Given the description of an element on the screen output the (x, y) to click on. 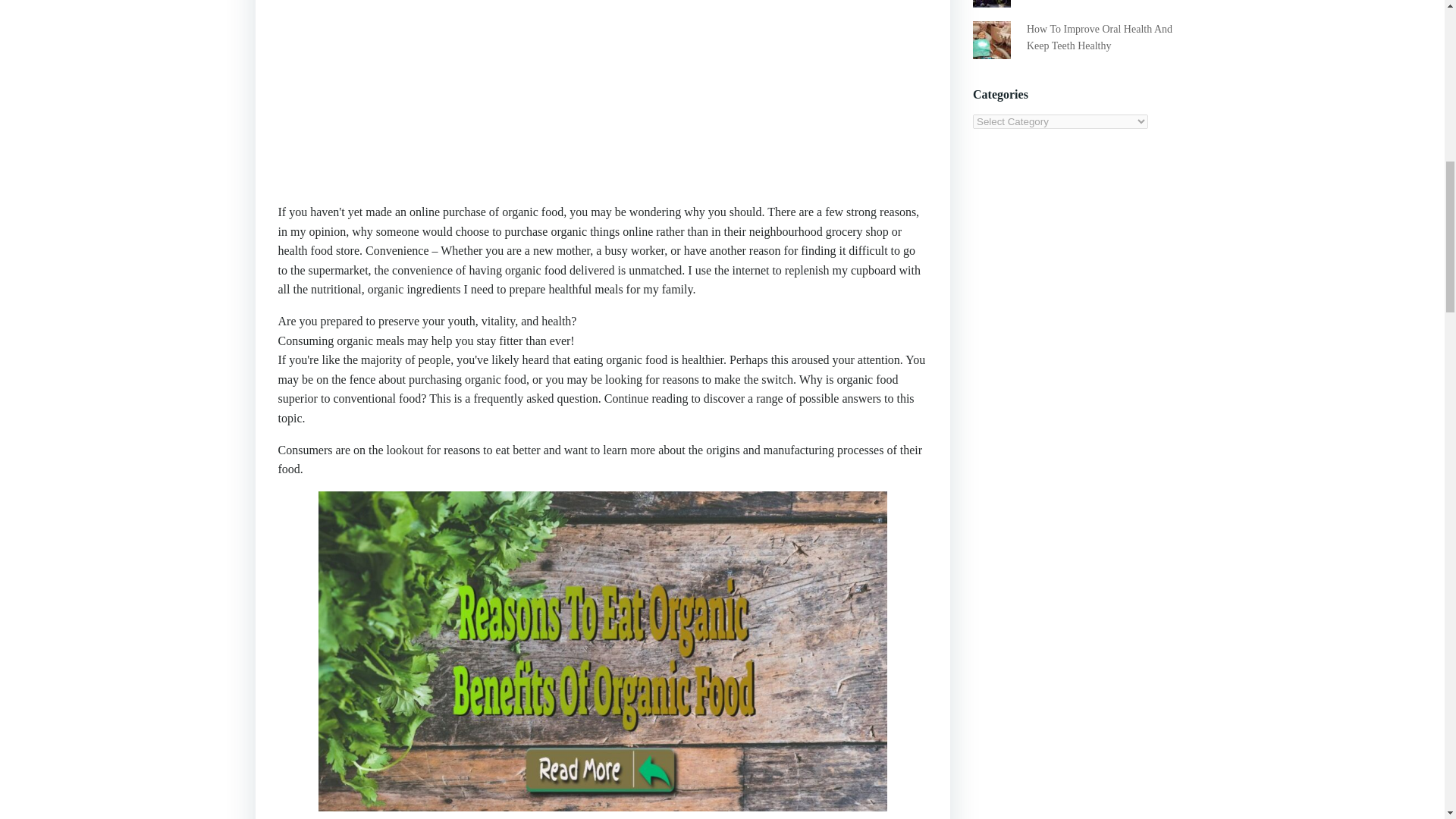
YouTube video player (489, 92)
